Given the description of an element on the screen output the (x, y) to click on. 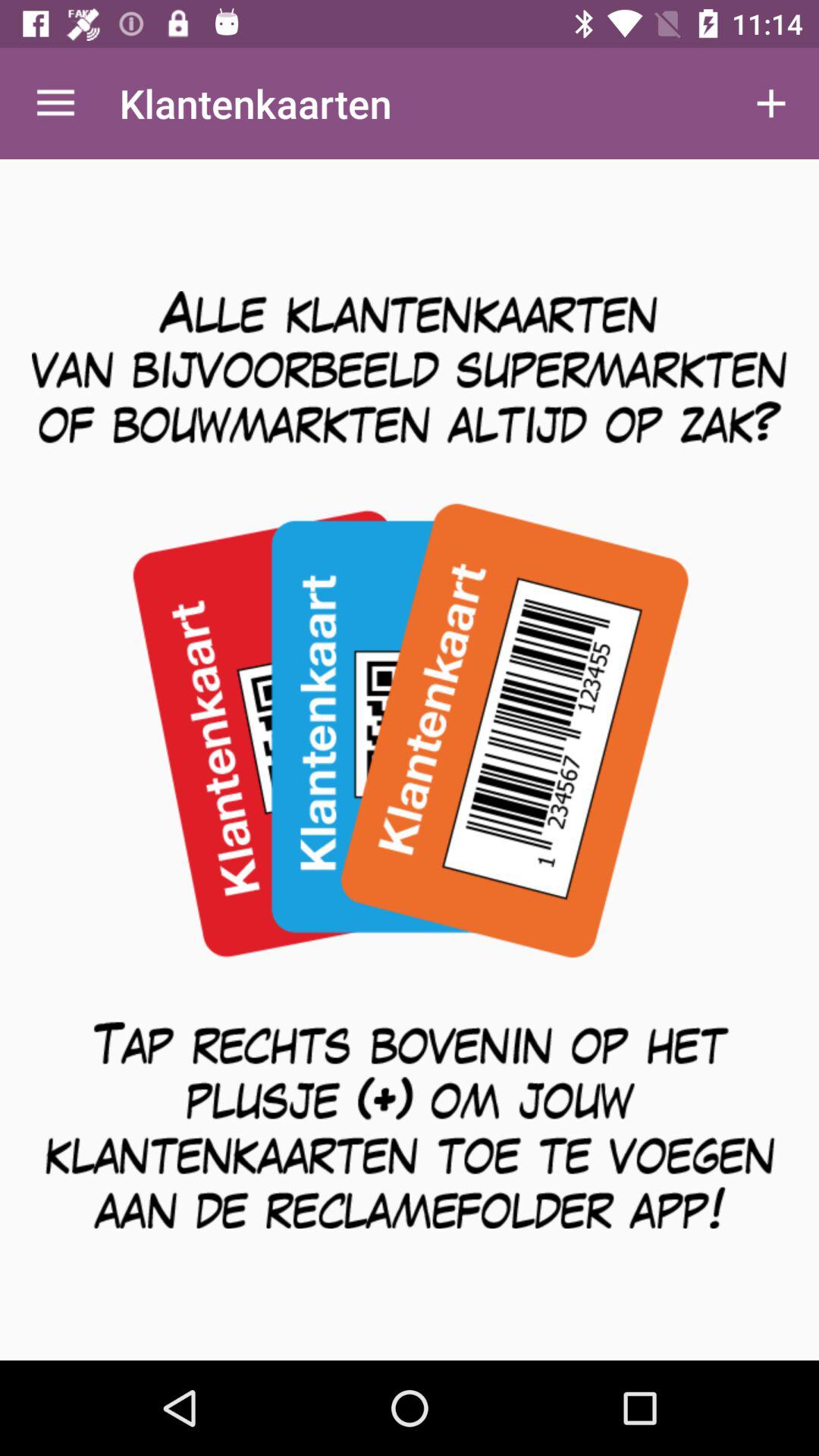
tap the icon to the left of klantenkaarten app (55, 103)
